Given the description of an element on the screen output the (x, y) to click on. 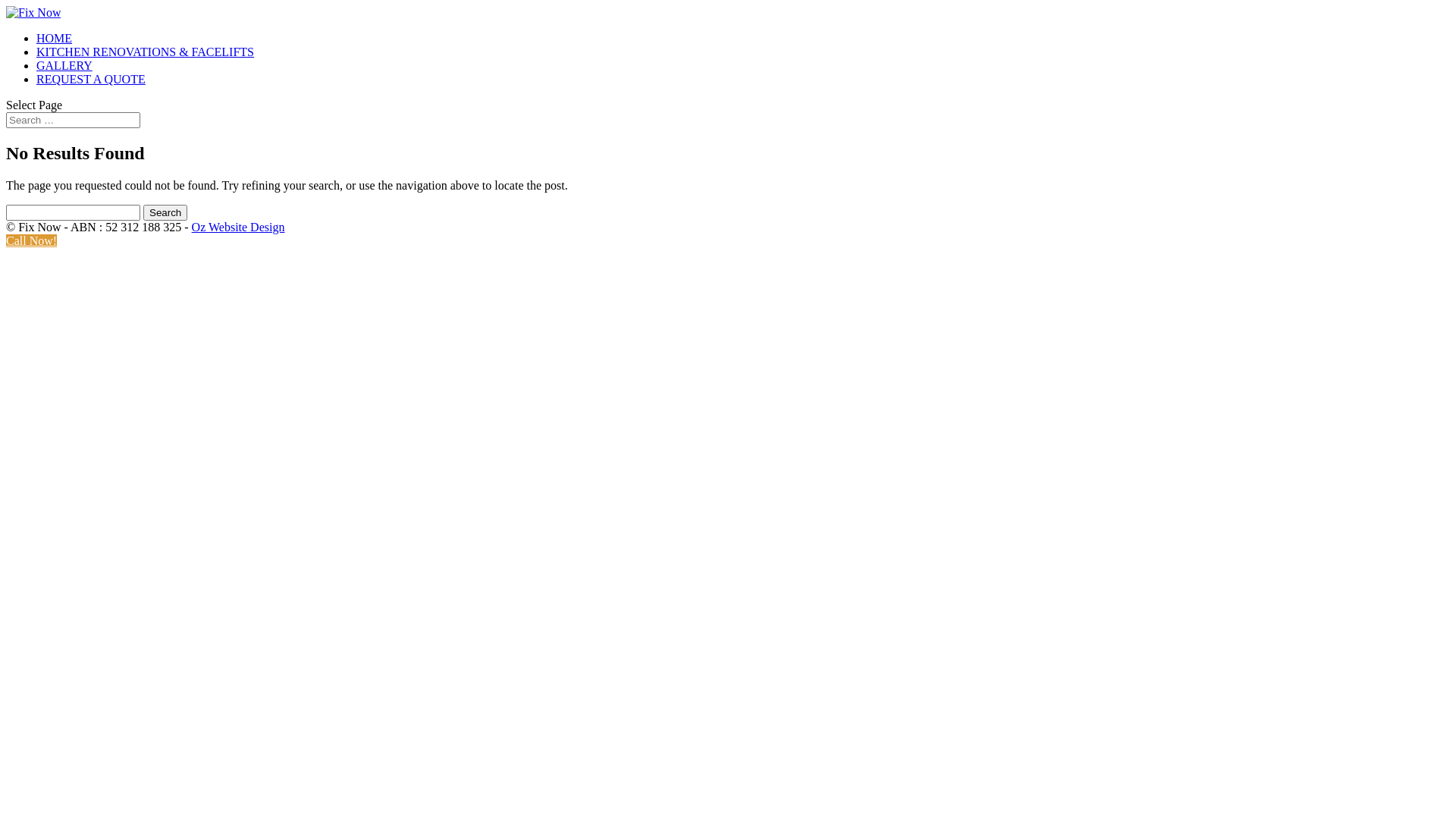
Call Now! Element type: text (31, 240)
Search for: Element type: hover (73, 120)
HOME Element type: text (54, 37)
Search Element type: text (165, 212)
GALLERY Element type: text (64, 65)
Oz Website Design Element type: text (238, 226)
REQUEST A QUOTE Element type: text (90, 78)
KITCHEN RENOVATIONS & FACELIFTS Element type: text (145, 51)
